Given the description of an element on the screen output the (x, y) to click on. 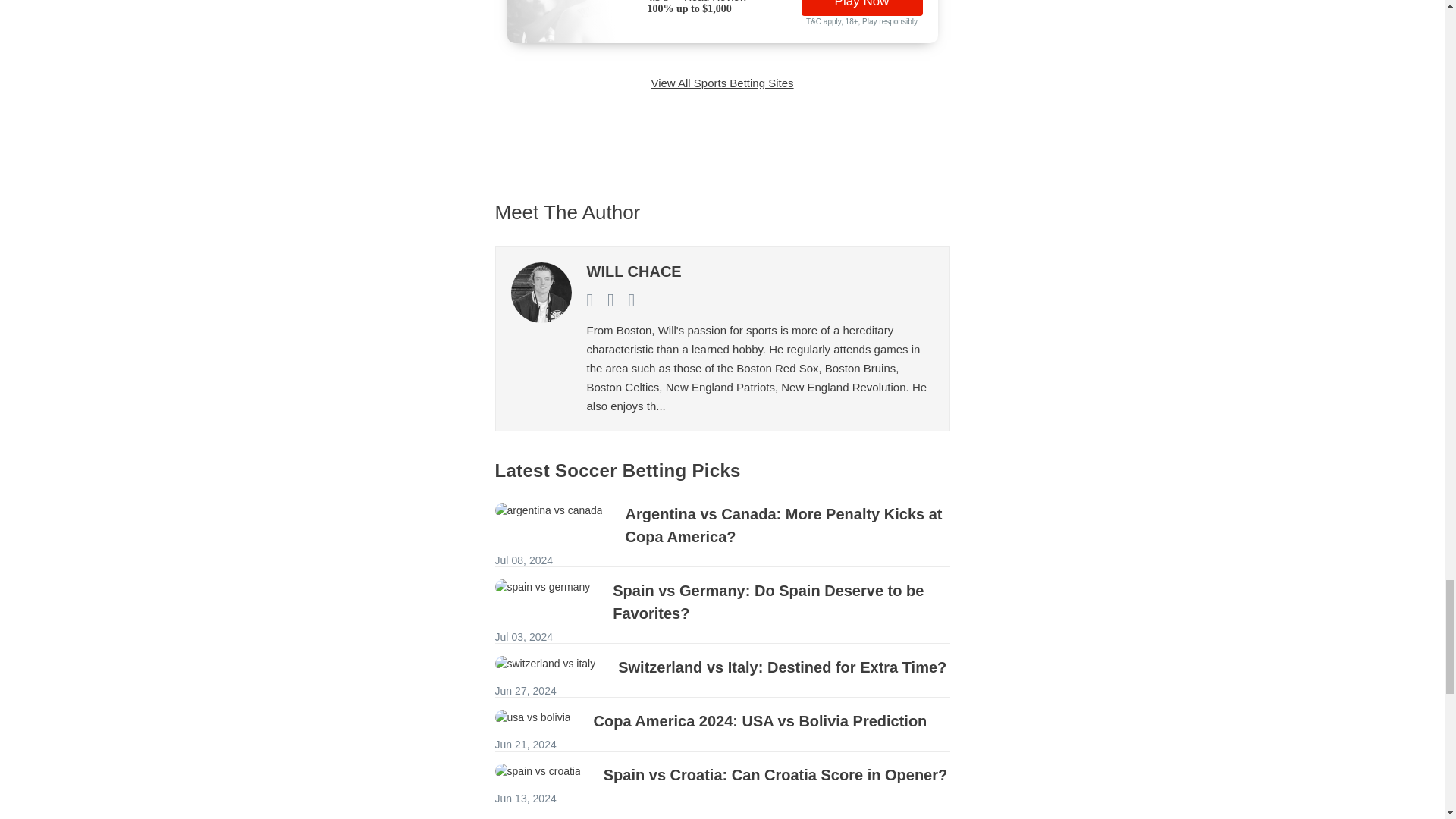
betnow (586, 19)
